Given the description of an element on the screen output the (x, y) to click on. 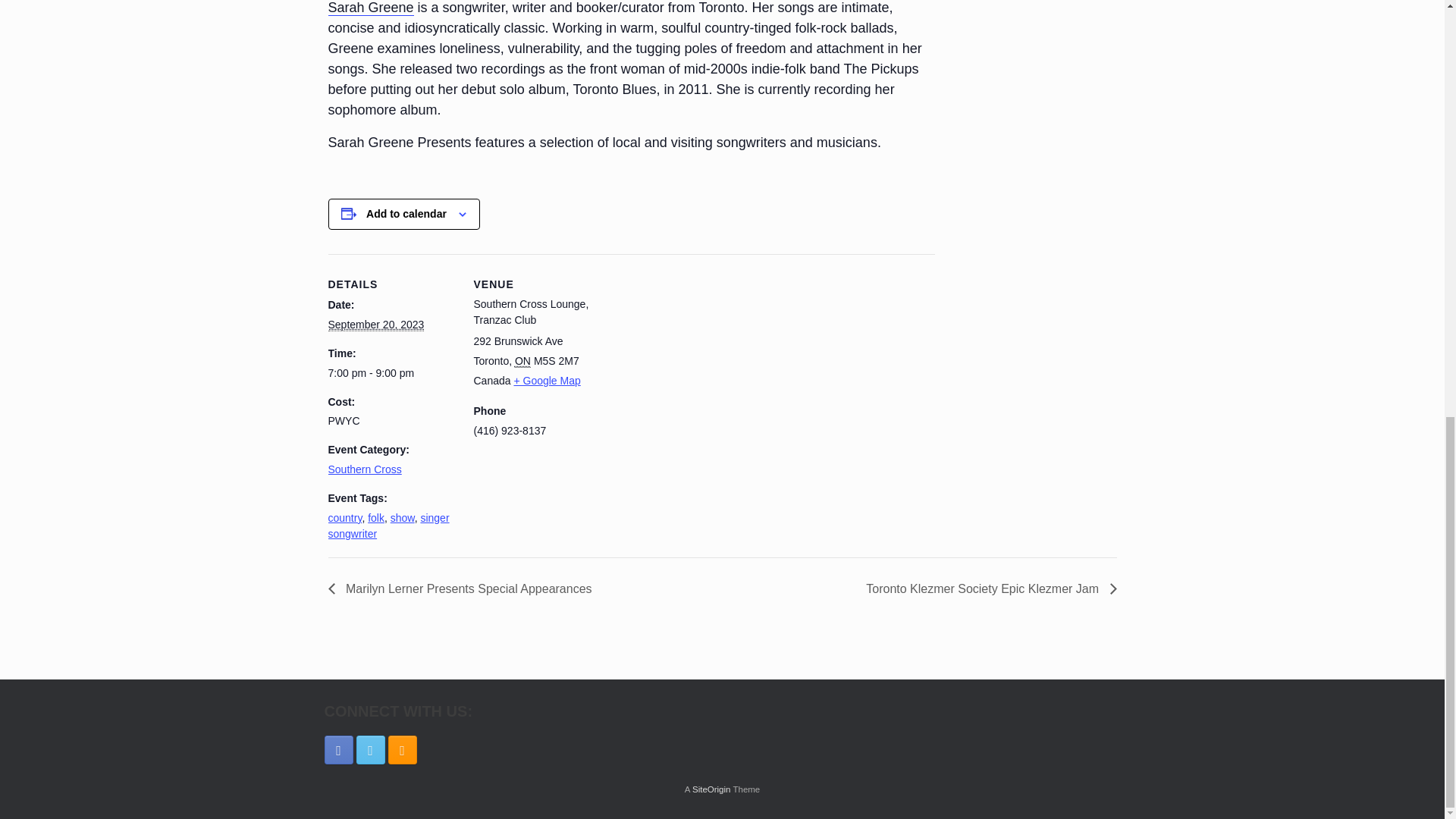
Tranzac Club Facebook (338, 749)
SiteOrigin (711, 788)
Marilyn Lerner Presents Special Appearances (463, 588)
folk (376, 517)
Tranzac Club RSS (402, 749)
Add to calendar (406, 214)
Toronto Klezmer Society Epic Klezmer Jam (986, 588)
Southern Cross (364, 469)
Sarah Greene (370, 7)
Click to view a Google Map (546, 380)
